Given the description of an element on the screen output the (x, y) to click on. 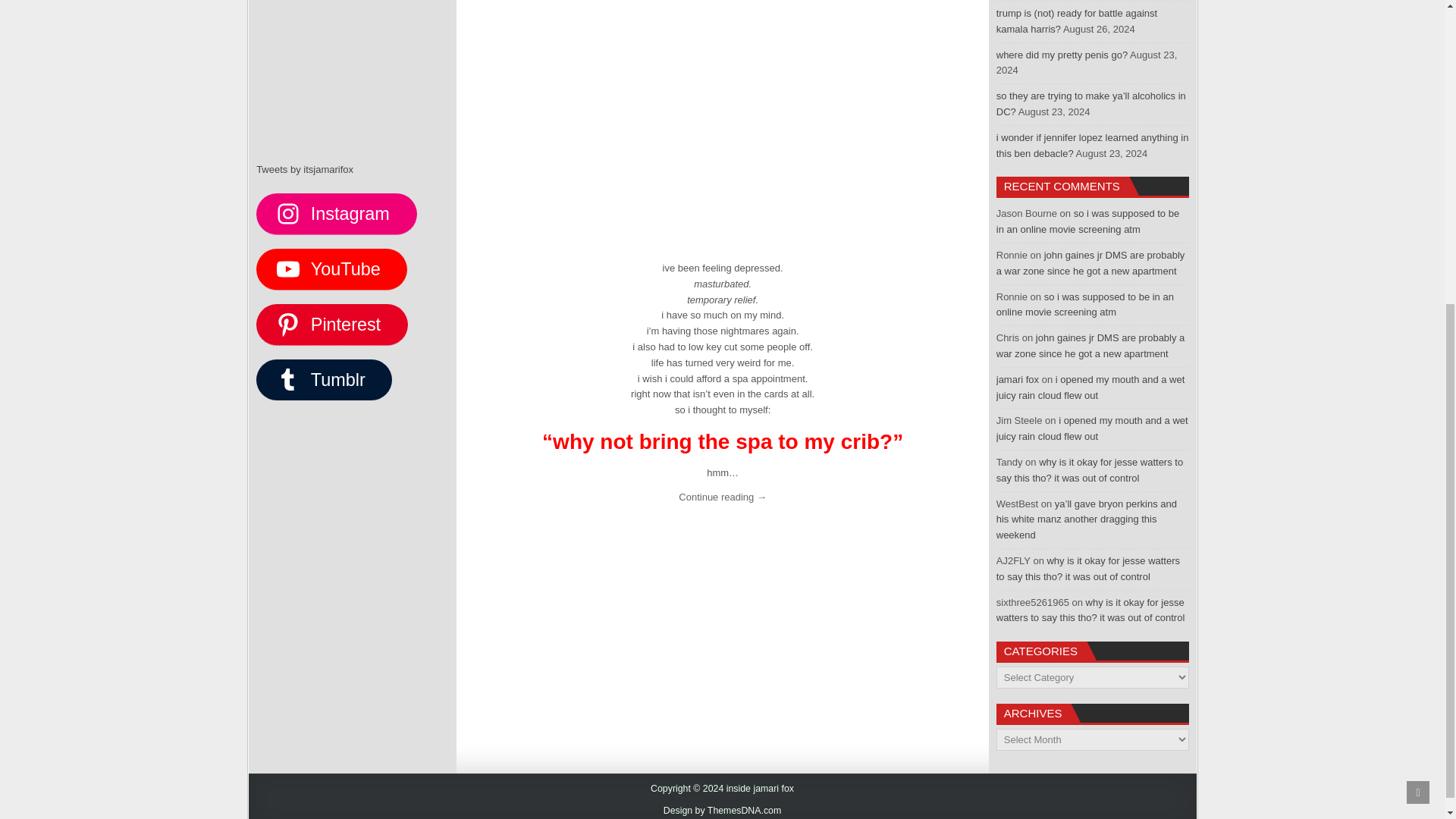
where did my pretty penis go? (1060, 54)
Instagram (336, 213)
so i was supposed to be in an online movie screening atm (1087, 221)
Pinterest (331, 323)
Scroll to Top (1417, 304)
Tweets by itsjamarifox (304, 169)
Scroll to Top (1417, 304)
Tumblr (323, 379)
YouTube (331, 268)
